Given the description of an element on the screen output the (x, y) to click on. 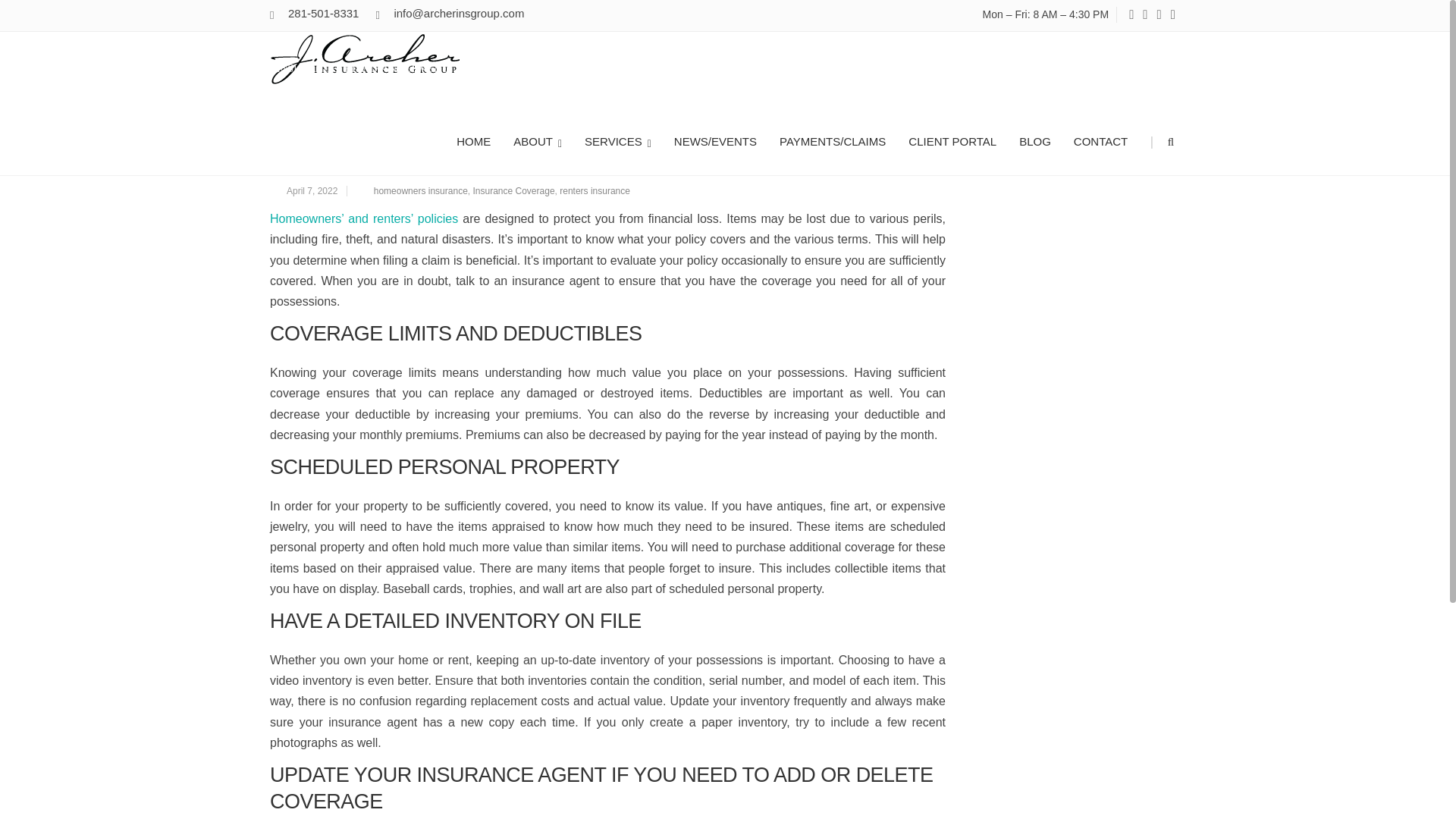
ABOUT (537, 140)
Are Lost Items Covered by Homeowners or Renters Insurance? (842, 41)
CONTACT (1100, 140)
CLIENT PORTAL (951, 140)
Are Lost Items Covered by Homeowners or Renters Insurance? (1044, 41)
SERVICES (617, 140)
Linkedin (1159, 15)
281-501-8331 (323, 12)
Instagram (1144, 15)
Twitter (1172, 15)
Are Lost Items Covered by Homeowners or Renters Insurance? (606, 158)
Facebook (1131, 15)
